Given the description of an element on the screen output the (x, y) to click on. 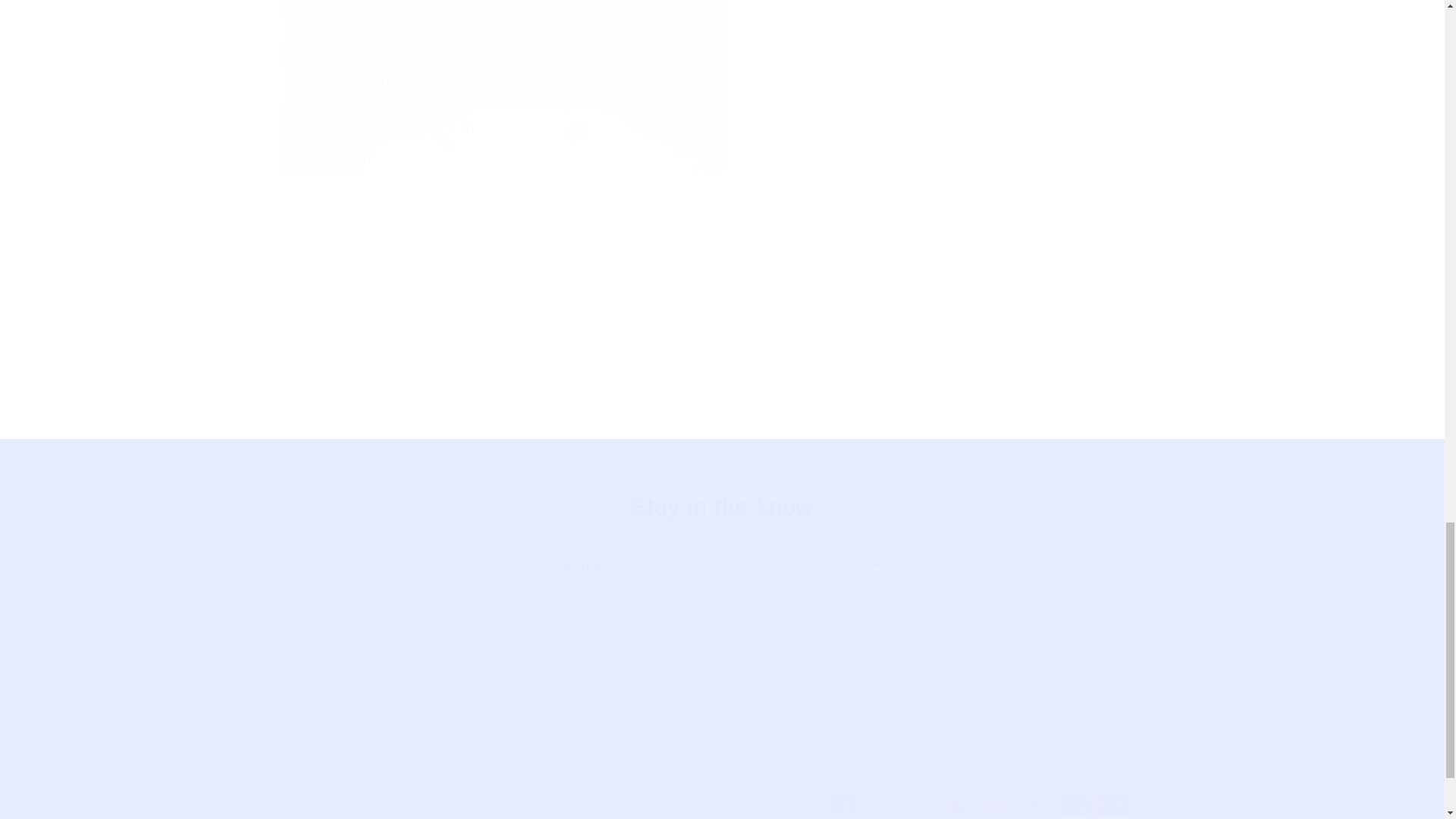
Stay in the know (721, 507)
Email (721, 565)
